Given the description of an element on the screen output the (x, y) to click on. 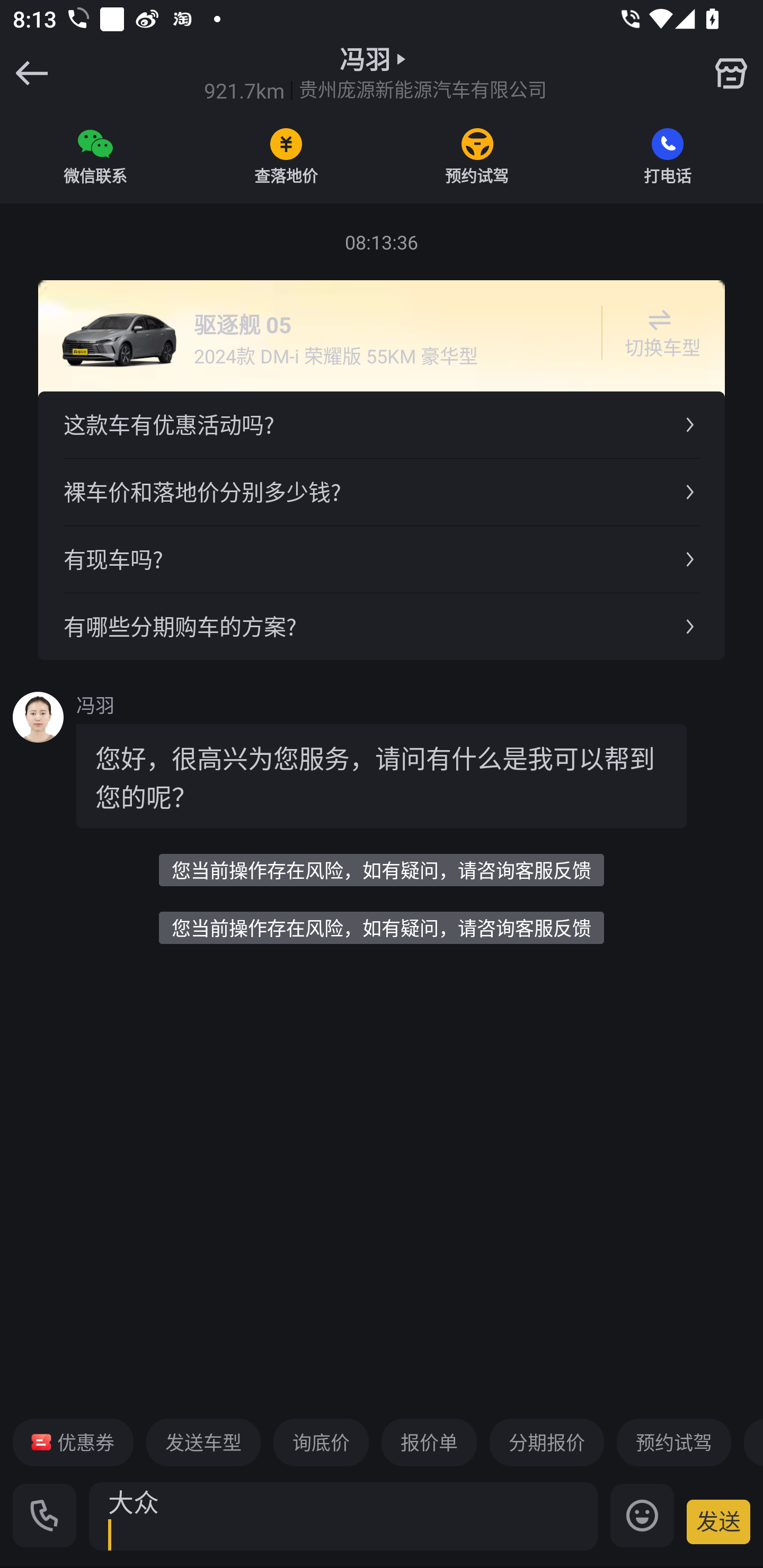
冯羽 921.7km 贵州庞源新能源汽车有限公司 (374, 73)
 (730, 73)
微信联系 (95, 155)
查落地价 (285, 155)
预约试驾 (476, 155)
打电话 (667, 155)
切换车型 (659, 332)
这款车有优惠活动吗? (381, 424)
裸车价和落地价分别多少钱? (381, 492)
有现车吗? (381, 558)
有哪些分期购车的方案? (381, 626)
您好，很高兴为您服务，请问有什么是我可以帮到您的呢？ (381, 775)
优惠券 (72, 1442)
发送车型 (203, 1442)
询底价 (320, 1442)
报价单 (428, 1442)
分期报价 (546, 1442)
预约试驾 (673, 1442)
大众
 (343, 1515)
发送 (718, 1521)
